Given the description of an element on the screen output the (x, y) to click on. 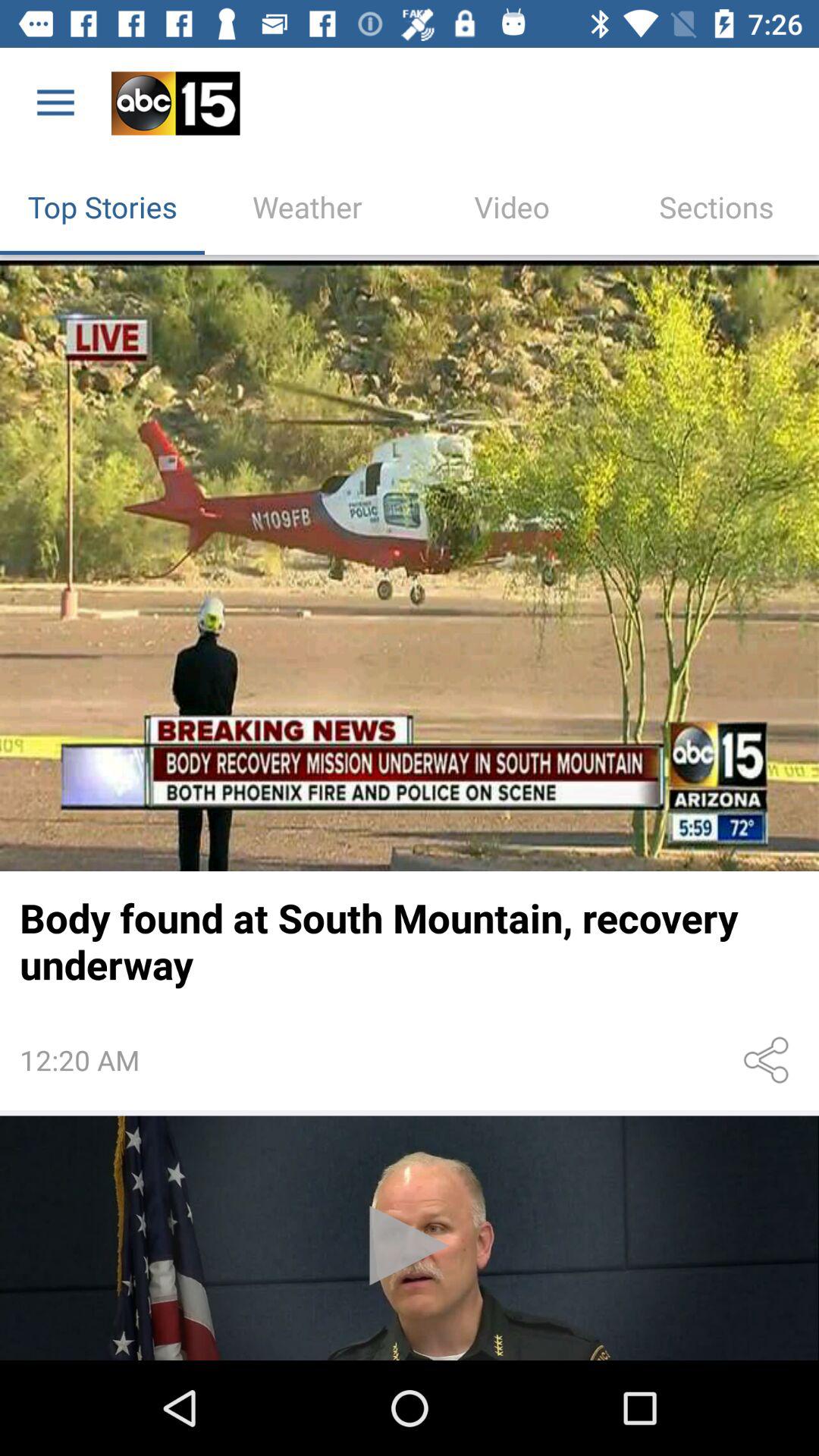
share the article (769, 1060)
